Given the description of an element on the screen output the (x, y) to click on. 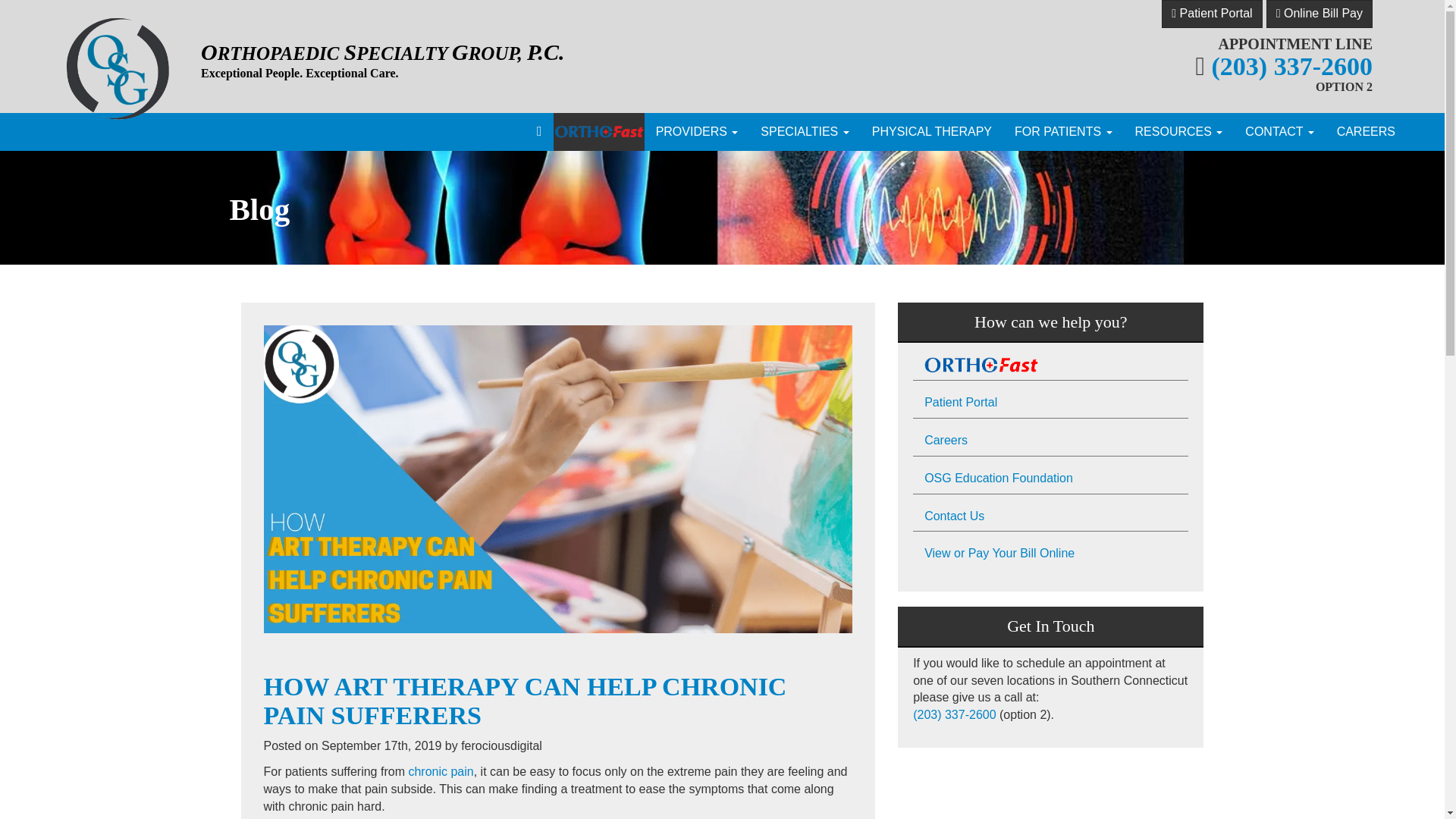
RESOURCES (1179, 131)
FOR PATIENTS (1063, 131)
SPECIALTIES (804, 131)
Online Bill Pay (1319, 13)
PROVIDERS (697, 131)
Patient Portal (1211, 13)
  ORTHOFAST WALK-IN ORTHOPAEDIC CARE (599, 131)
PHYSICAL THERAPY (931, 131)
